Given the description of an element on the screen output the (x, y) to click on. 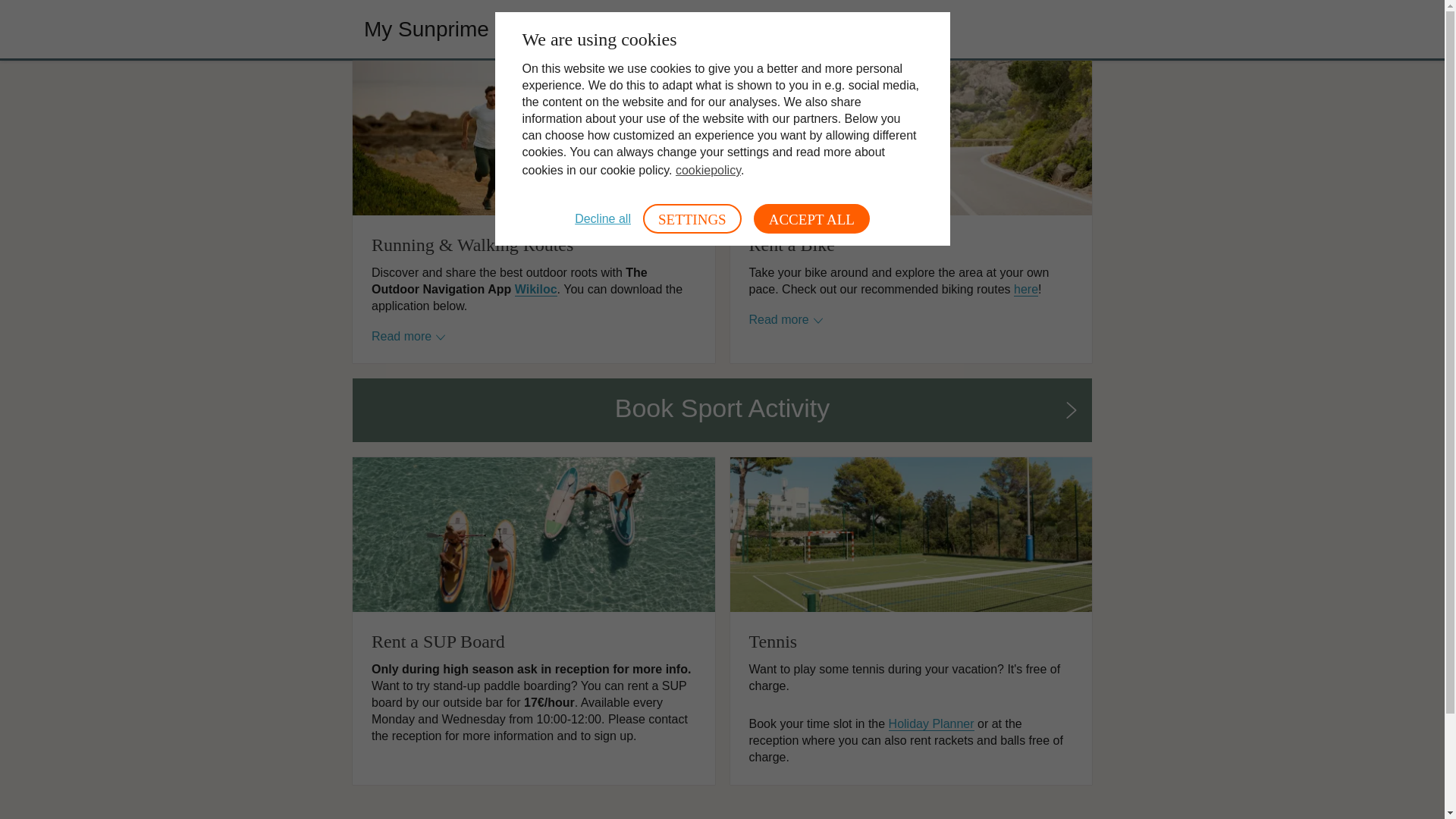
ACCEPT ALL (811, 218)
SETTINGS (692, 218)
Book Sport Activity (722, 410)
My Sunprime Pollensa Bay (491, 29)
here (1025, 289)
Read more (408, 336)
Decline all (602, 219)
cookiepolicy (708, 169)
Wikiloc (536, 289)
Holiday Planner (931, 724)
